Given the description of an element on the screen output the (x, y) to click on. 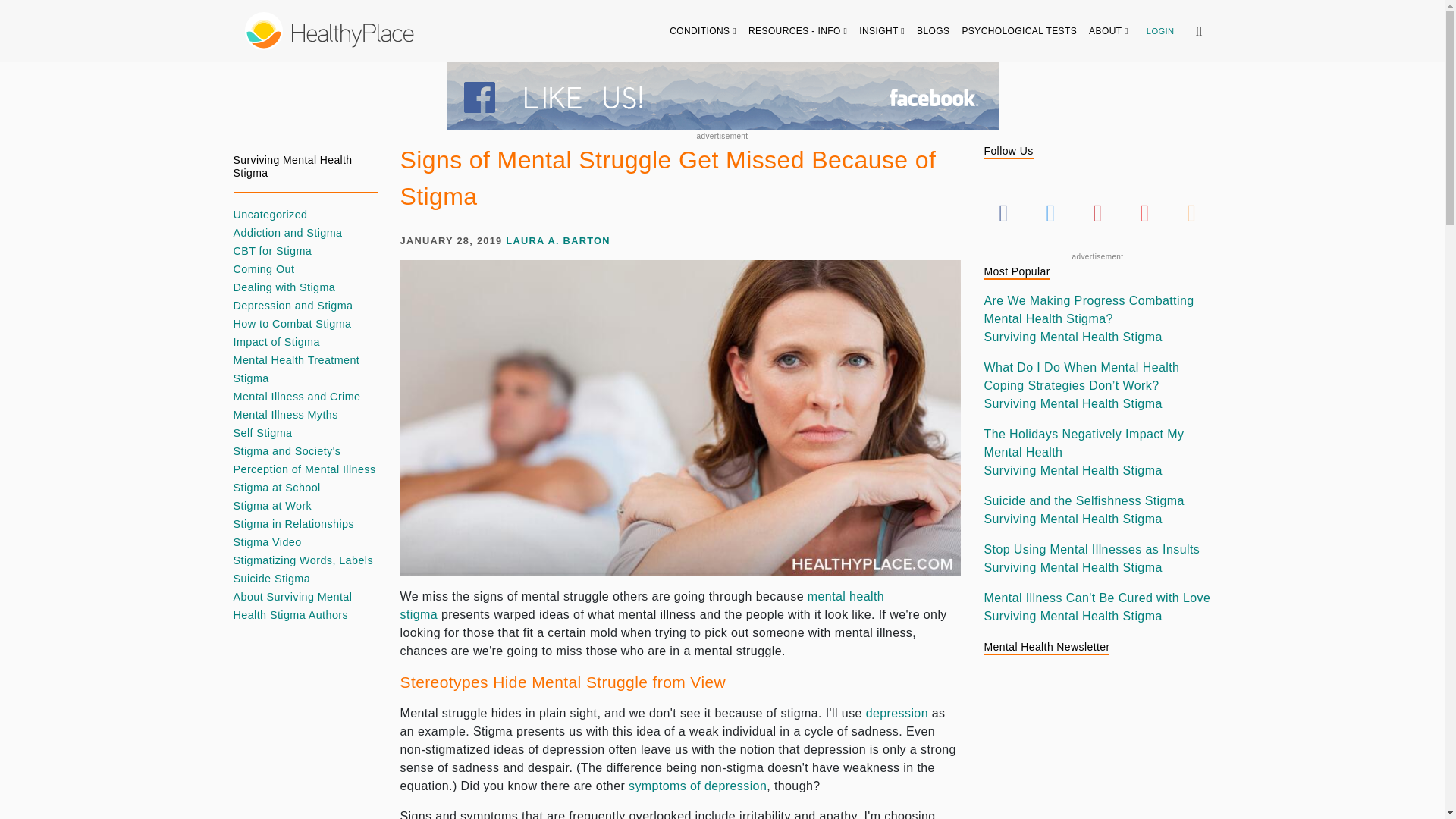
INSIGHT (882, 31)
Depression Symptoms: What Are the Symptoms of Depression? (697, 785)
Join our Facebook community for mental health support (721, 96)
What Is Stigma? (642, 604)
What Is Depression? Depression Definition (897, 712)
CONDITIONS (702, 31)
RESOURCES - INFO (797, 31)
